Given the description of an element on the screen output the (x, y) to click on. 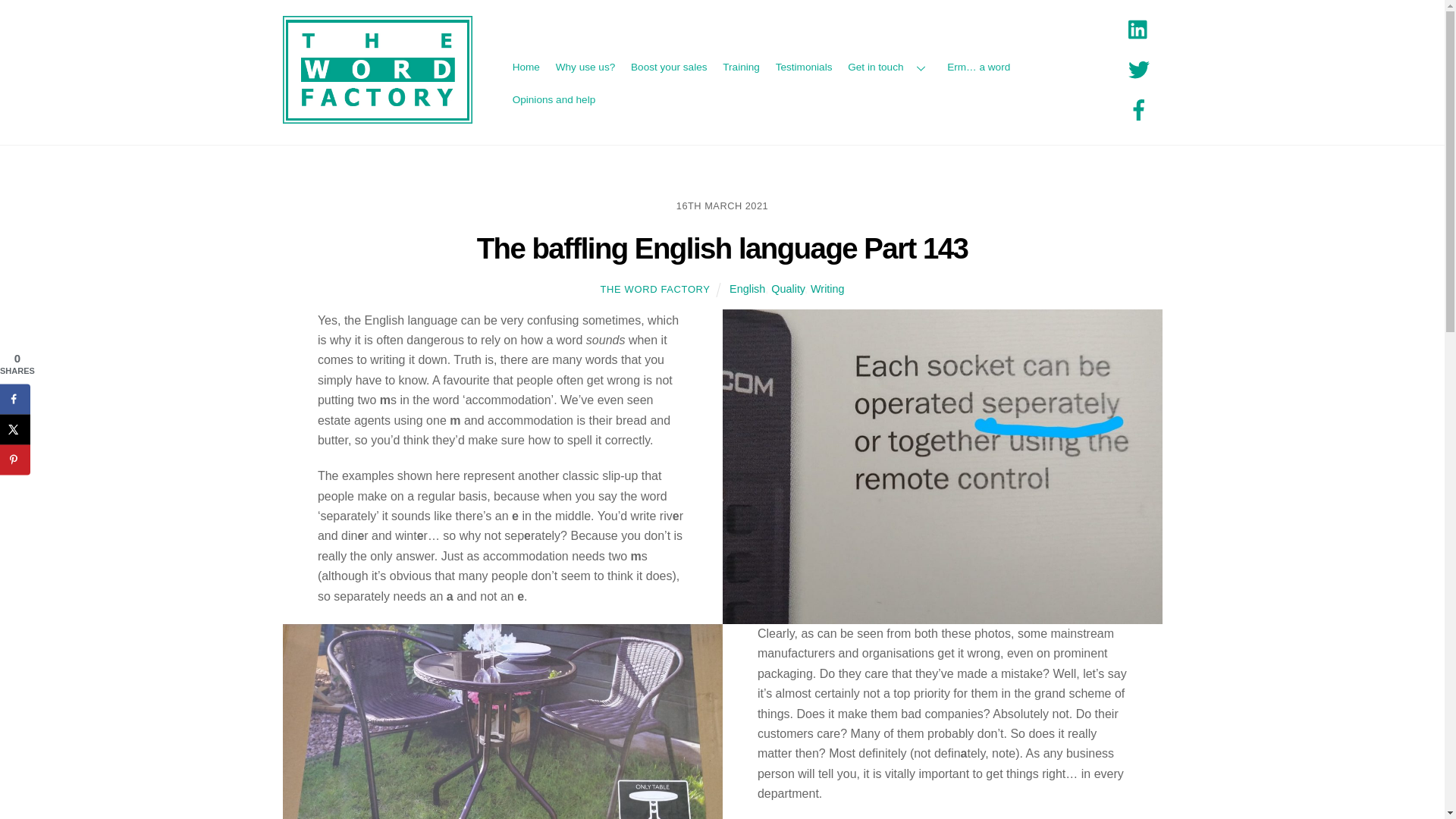
Why use us? (585, 67)
Share on X (15, 429)
THE WORD FACTORY (654, 288)
Testimonials (804, 67)
The baffling English language Part 143 (722, 247)
The Word Factory (376, 115)
Opinions and help (554, 99)
Training (740, 67)
Home (526, 67)
Get in touch (889, 67)
Share on Facebook (15, 399)
Writing (827, 288)
Boost your sales (668, 67)
Save to Pinterest (15, 459)
English (747, 288)
